Given the description of an element on the screen output the (x, y) to click on. 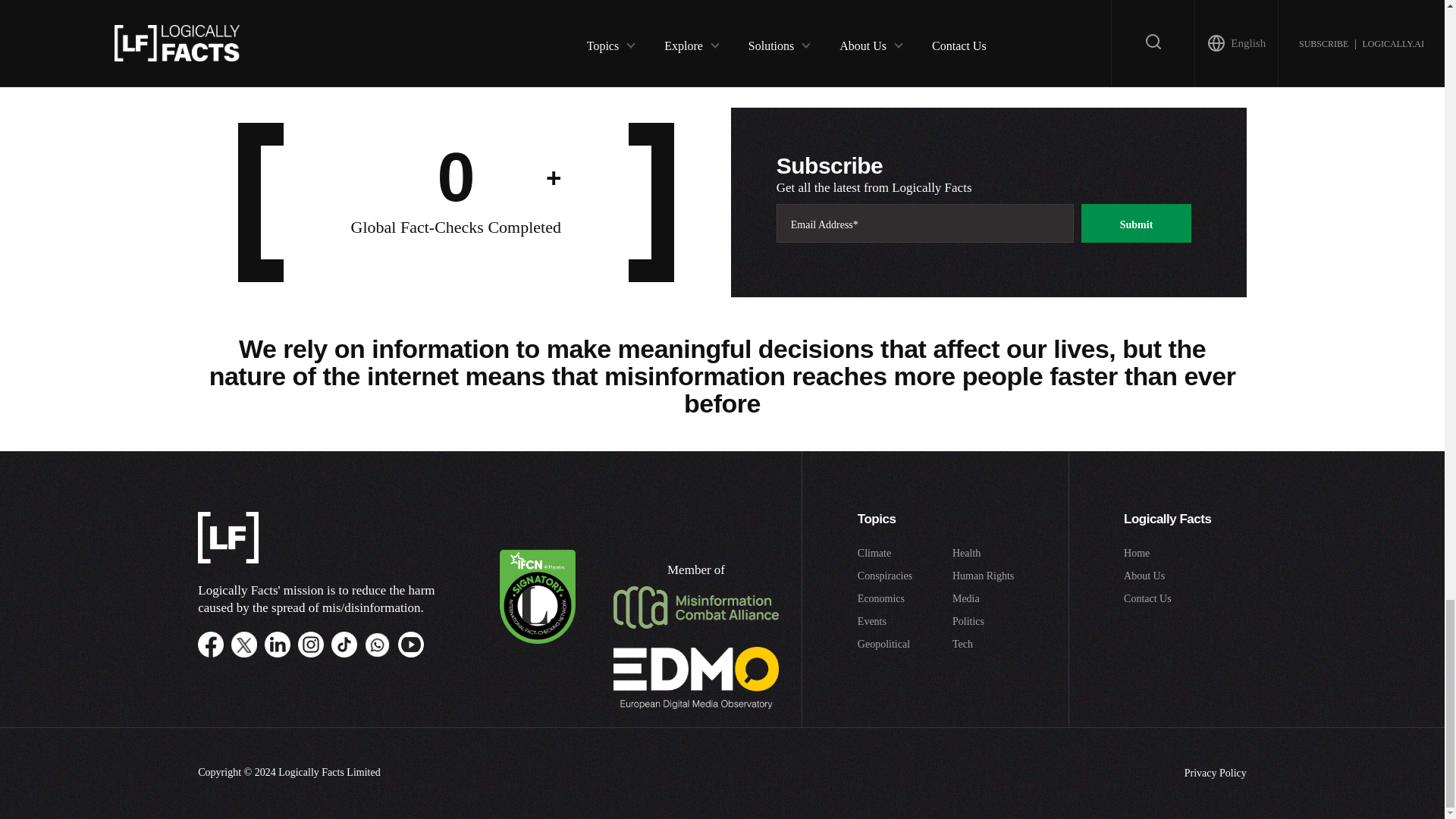
Submit (1136, 222)
IFCN signatory (537, 639)
Submit (588, 10)
